Given the description of an element on the screen output the (x, y) to click on. 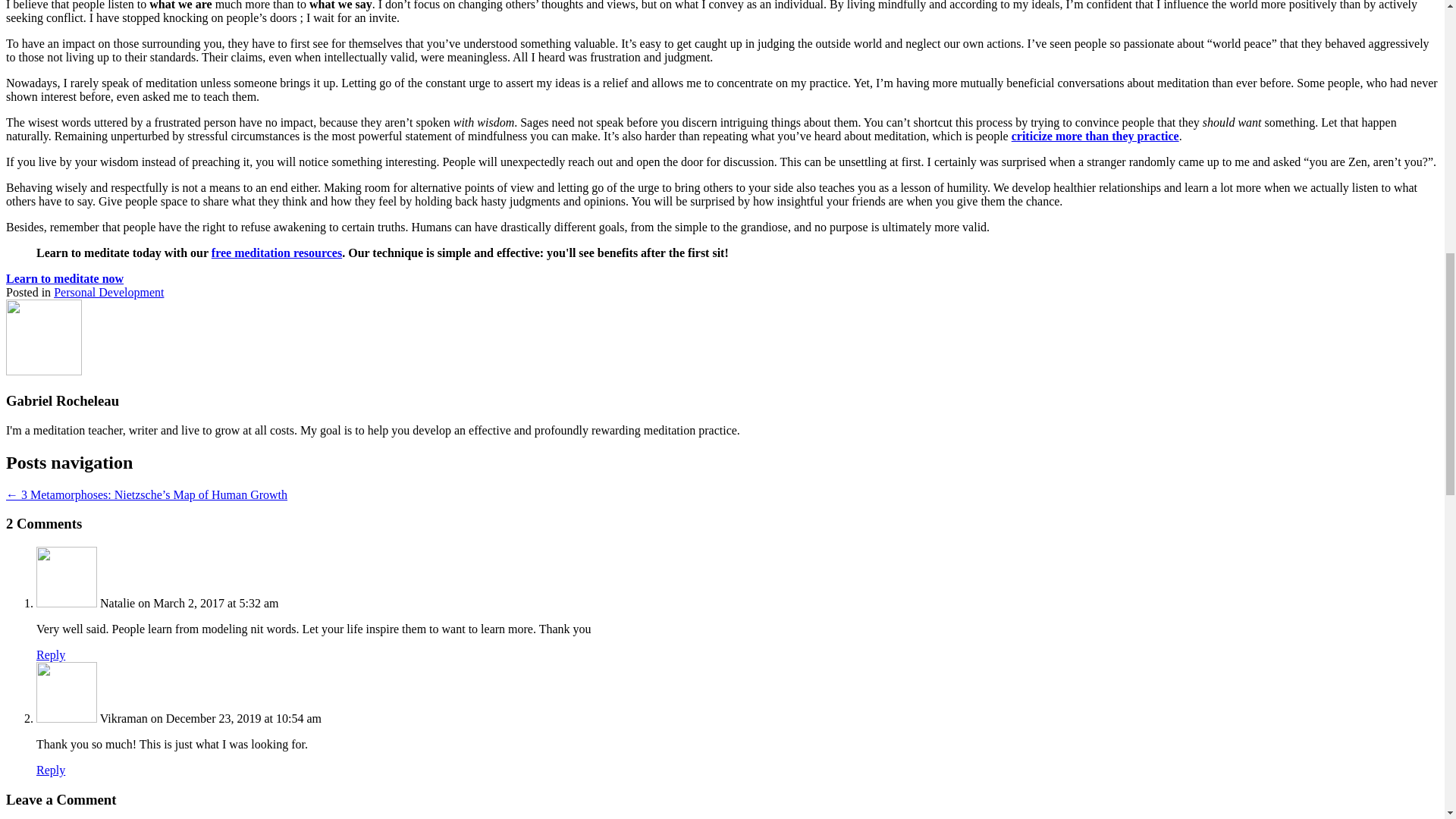
Reply (50, 769)
criticize more than they practice (1095, 135)
Personal Development (108, 291)
Learn to meditate now (64, 278)
Reply (50, 654)
free meditation resources (276, 252)
